Given the description of an element on the screen output the (x, y) to click on. 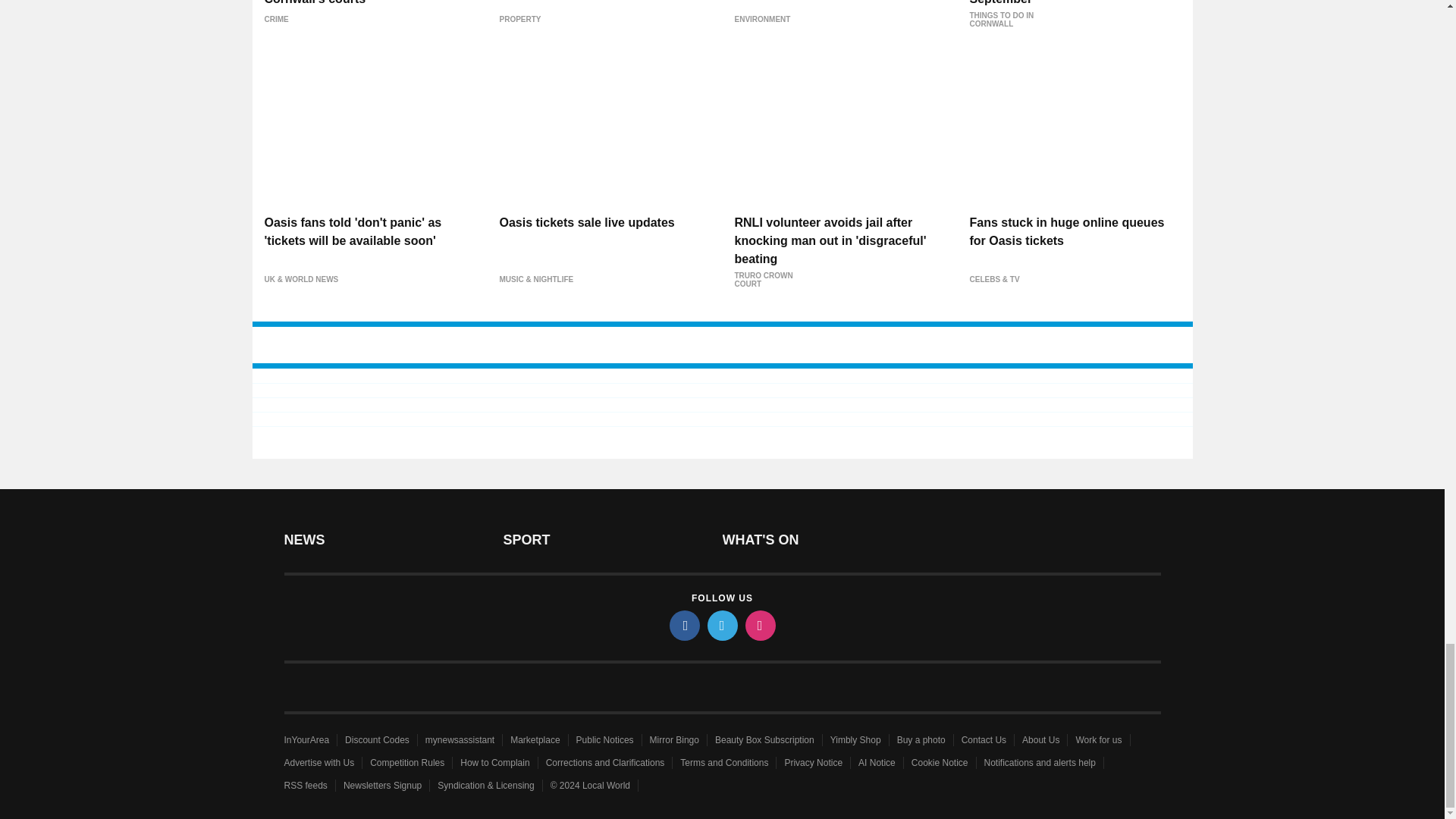
instagram (759, 625)
twitter (721, 625)
facebook (683, 625)
